Given the description of an element on the screen output the (x, y) to click on. 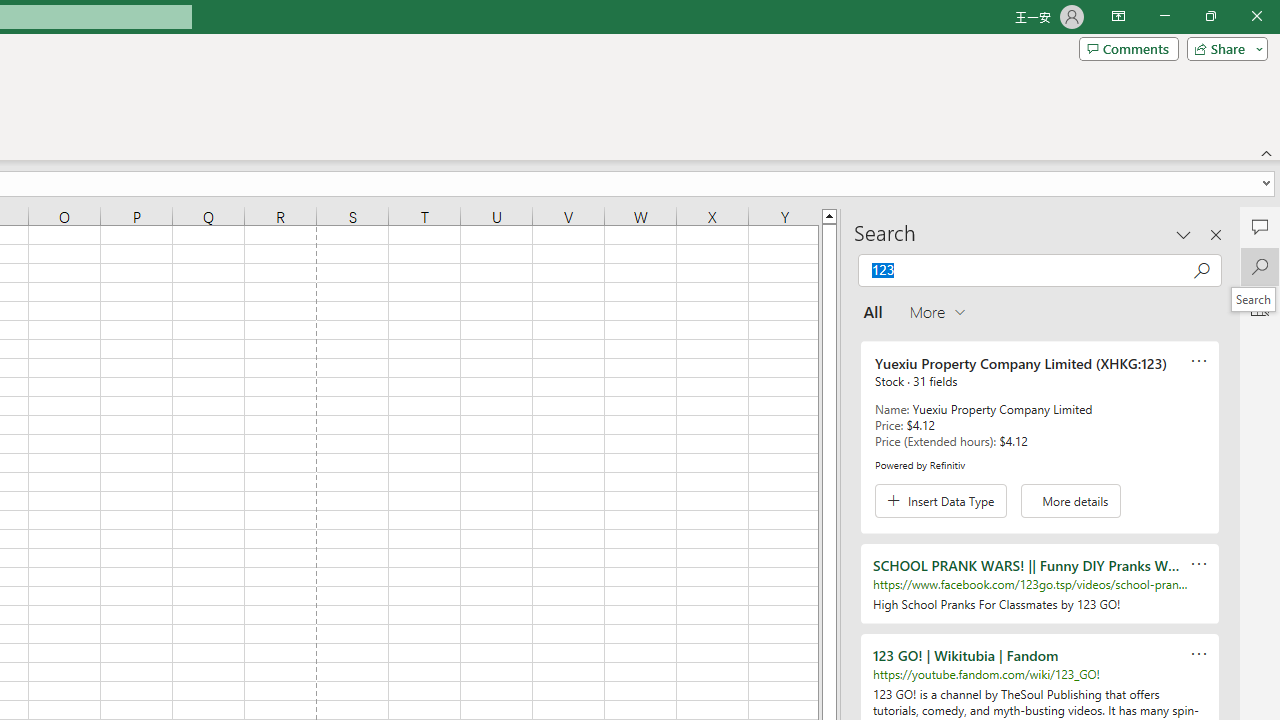
Analyze Data (1260, 306)
Close pane (1215, 234)
Search (1253, 299)
Restore Down (1210, 16)
Search (1260, 266)
Task Pane Options (1183, 234)
